Given the description of an element on the screen output the (x, y) to click on. 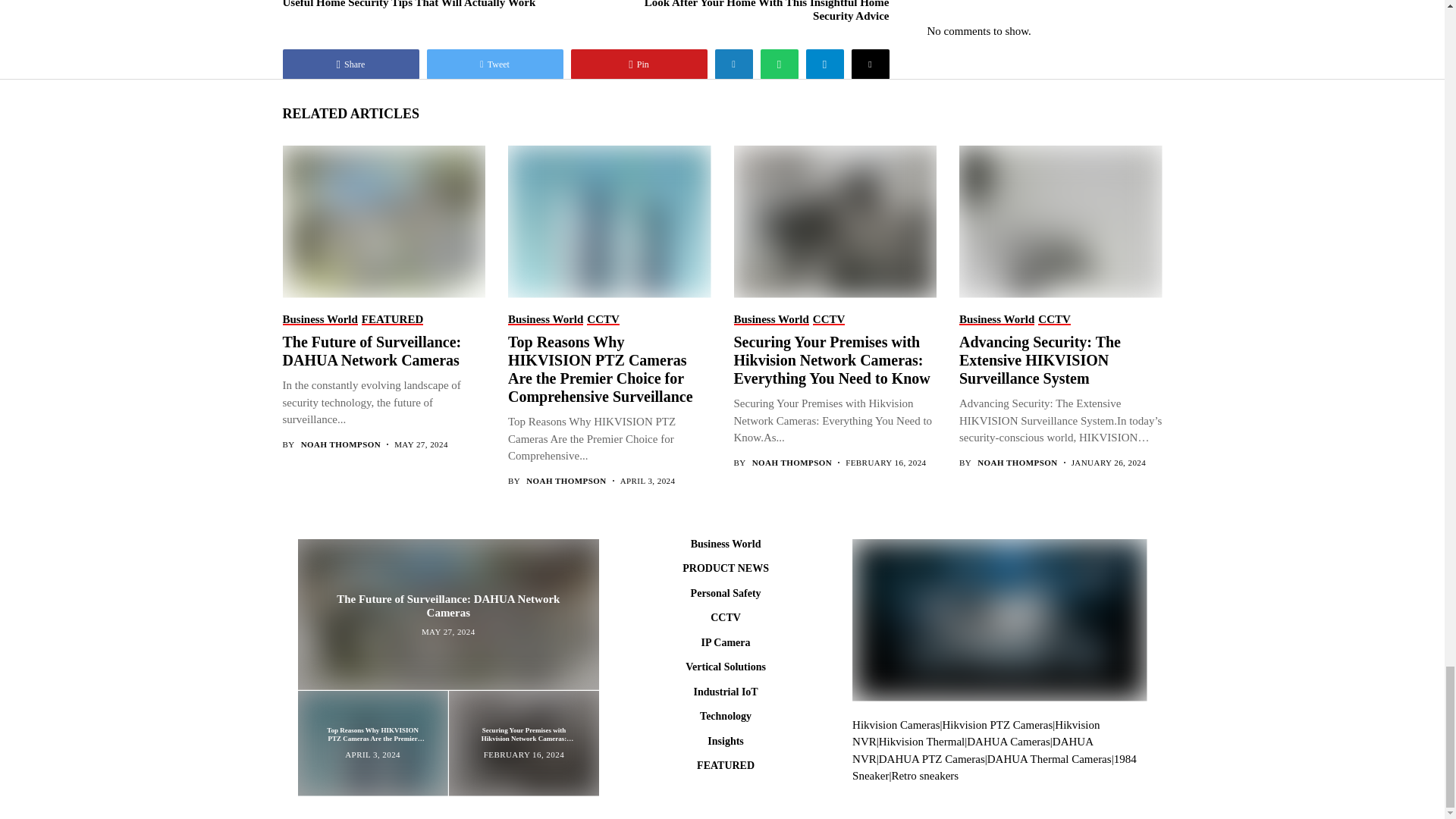
Posts by Noah Thompson (1016, 462)
Posts by Noah Thompson (565, 480)
The Future of Surveillance: DAHUA Network Cameras (447, 613)
Posts by Noah Thompson (791, 462)
The Future of Surveillance: DAHUA Network Cameras (382, 220)
Posts by Noah Thompson (340, 444)
